Given the description of an element on the screen output the (x, y) to click on. 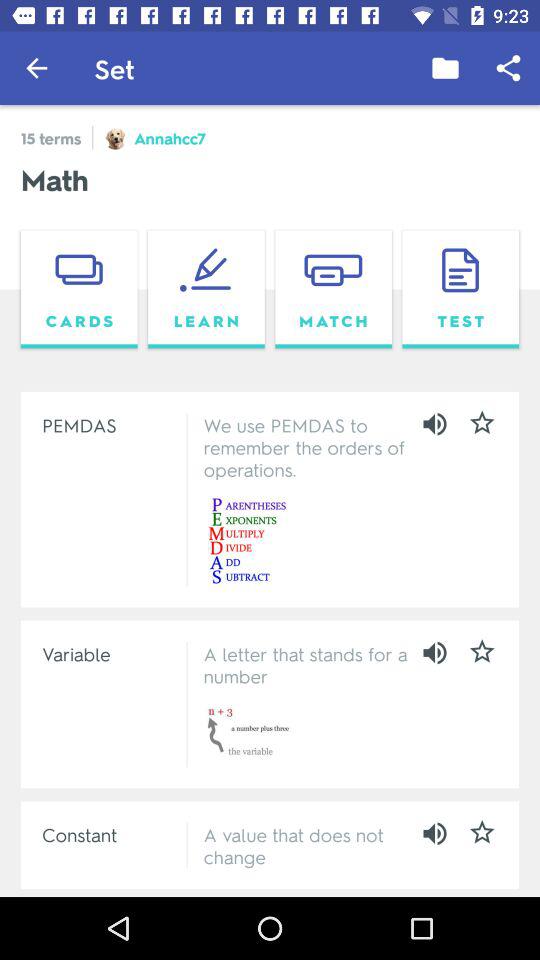
click variable item (110, 653)
